Given the description of an element on the screen output the (x, y) to click on. 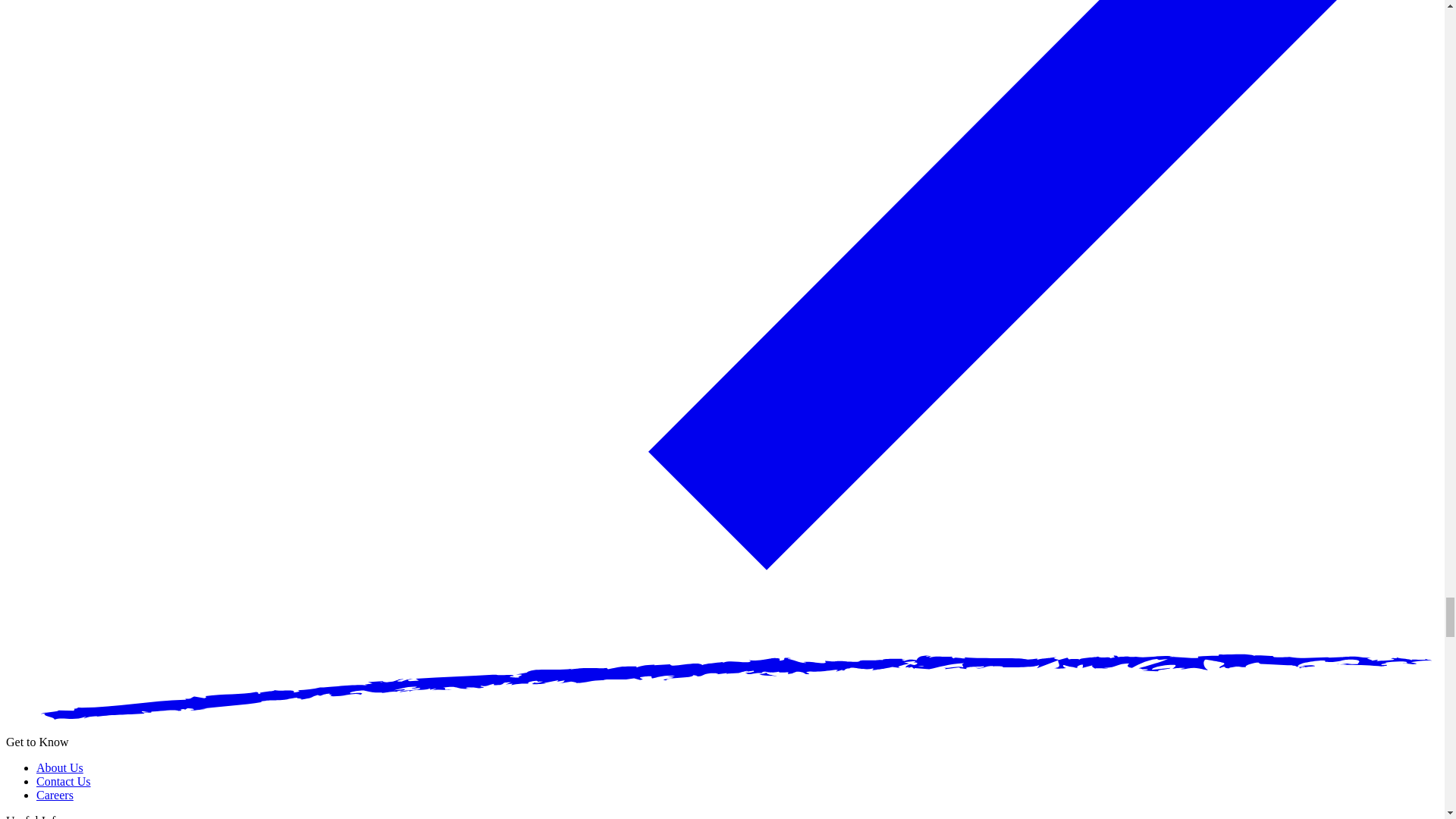
About Us (59, 767)
Careers (55, 794)
Contact Us (63, 780)
